Given the description of an element on the screen output the (x, y) to click on. 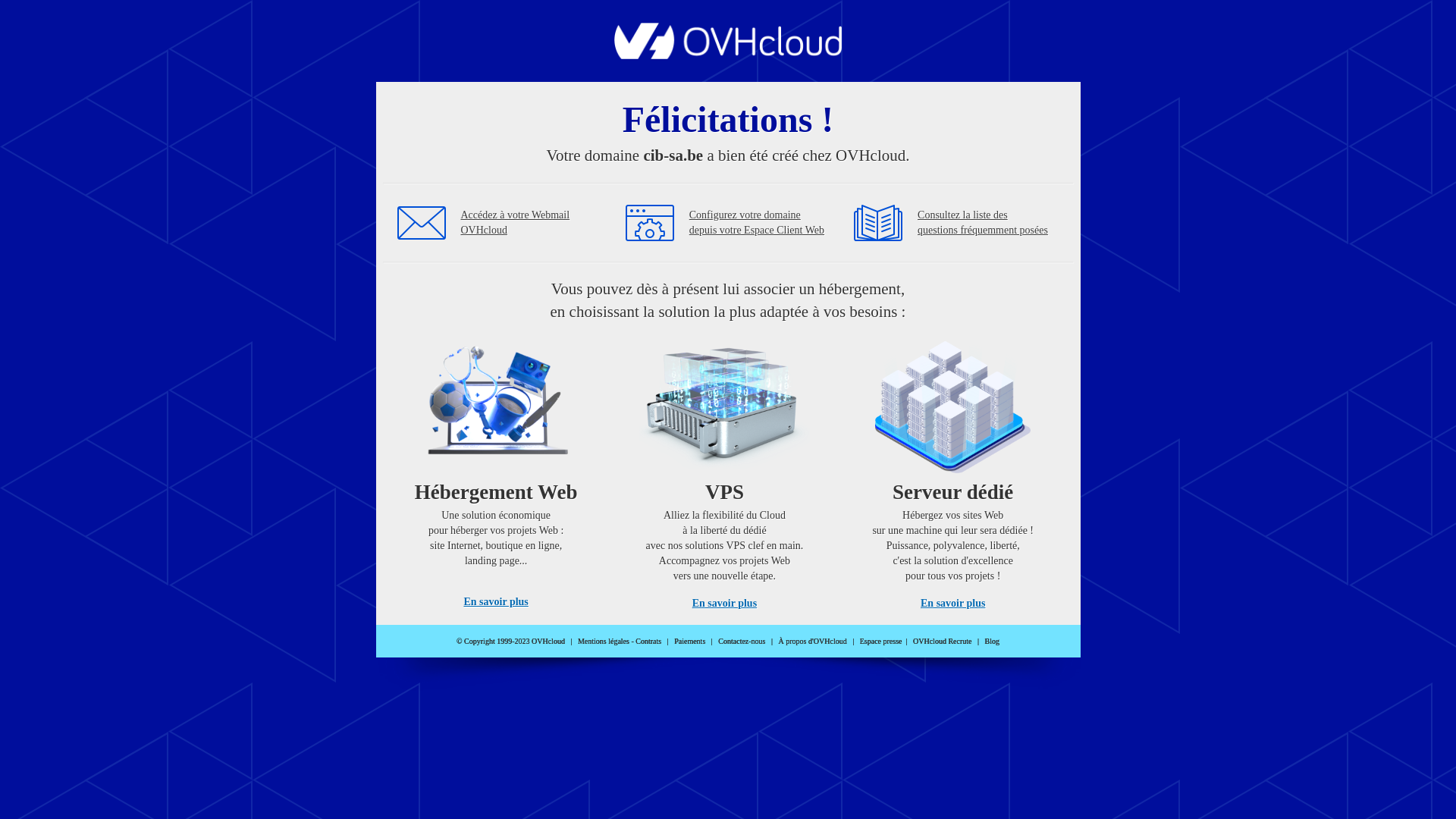
Paiements Element type: text (689, 641)
Configurez votre domaine
depuis votre Espace Client Web Element type: text (756, 222)
En savoir plus Element type: text (724, 602)
Contactez-nous Element type: text (741, 641)
Espace presse Element type: text (880, 641)
En savoir plus Element type: text (952, 602)
OVHcloud Element type: hover (727, 54)
OVHcloud Recrute Element type: text (942, 641)
VPS Element type: hover (724, 469)
En savoir plus Element type: text (495, 601)
Blog Element type: text (992, 641)
